Given the description of an element on the screen output the (x, y) to click on. 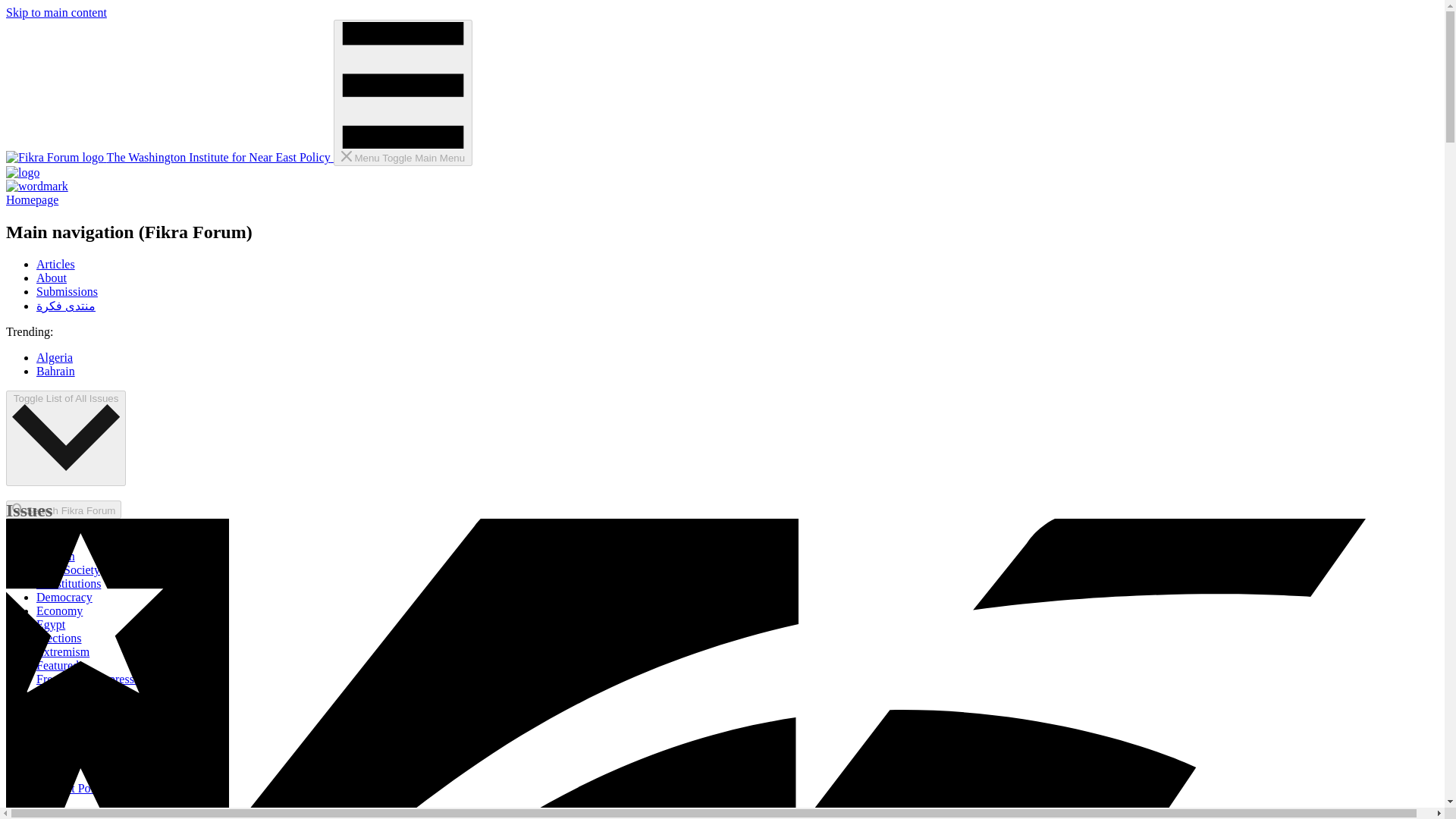
Submissions (66, 291)
Algeria (54, 357)
Featured (57, 665)
Iran (46, 747)
Iraq (46, 760)
Gaza (48, 692)
Democracy (64, 596)
Civil Society (68, 569)
Bahrain (55, 555)
Extremism (62, 651)
ISIS (47, 774)
Islamist Politics (75, 788)
Gulf Countries (72, 719)
Homepage (721, 186)
The Washington Institute for Near East Policy (169, 156)
